Given the description of an element on the screen output the (x, y) to click on. 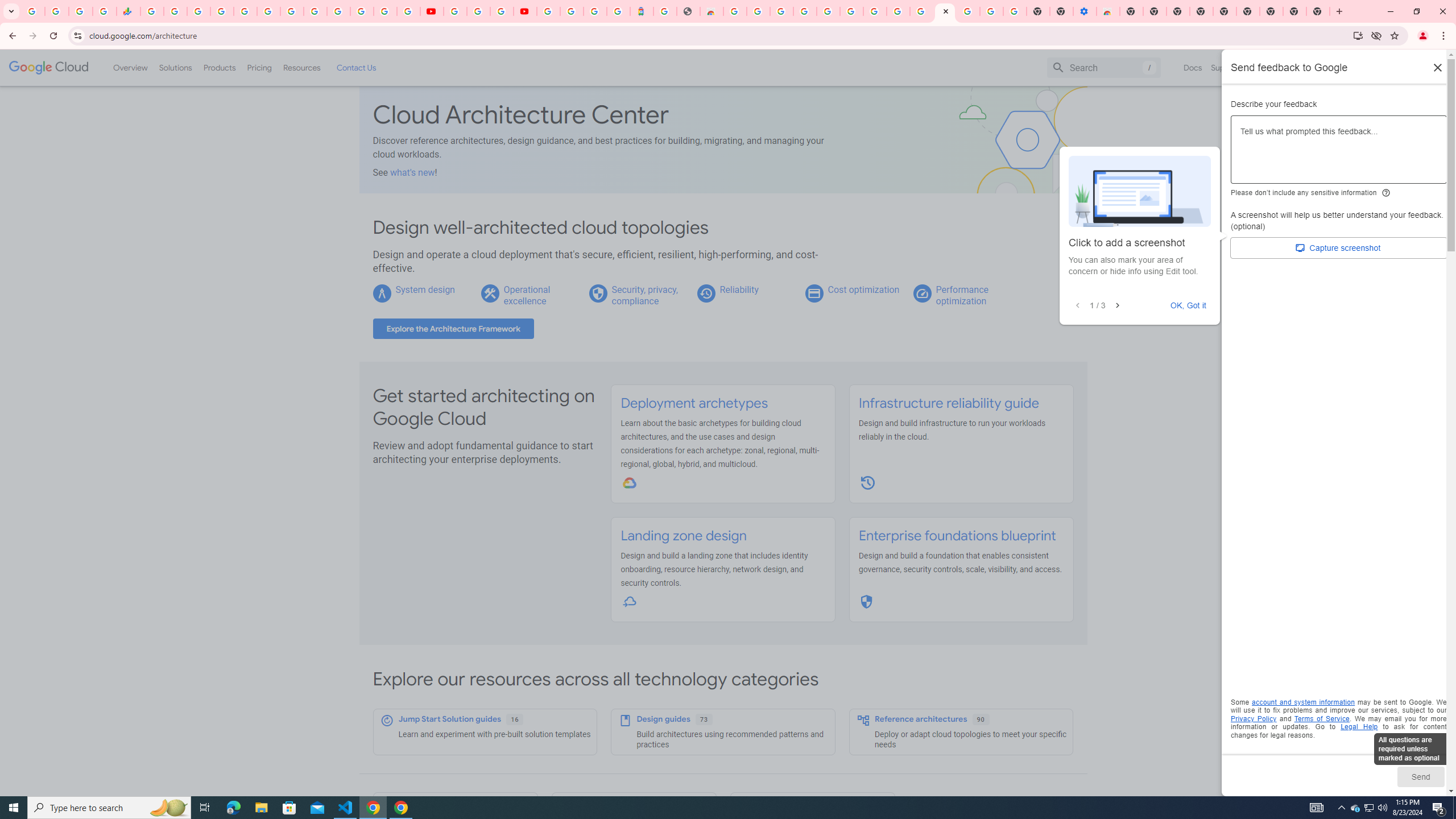
Next (1117, 305)
Docs (1192, 67)
Address and search bar (717, 35)
Resources (301, 67)
Previous (1077, 305)
Products (218, 67)
Opens in a new tab. Privacy Policy (1253, 718)
Reliability (738, 289)
Operational excellence (526, 295)
Capture screenshot (1338, 247)
New Tab (1271, 11)
Google Account Help (850, 11)
